Given the description of an element on the screen output the (x, y) to click on. 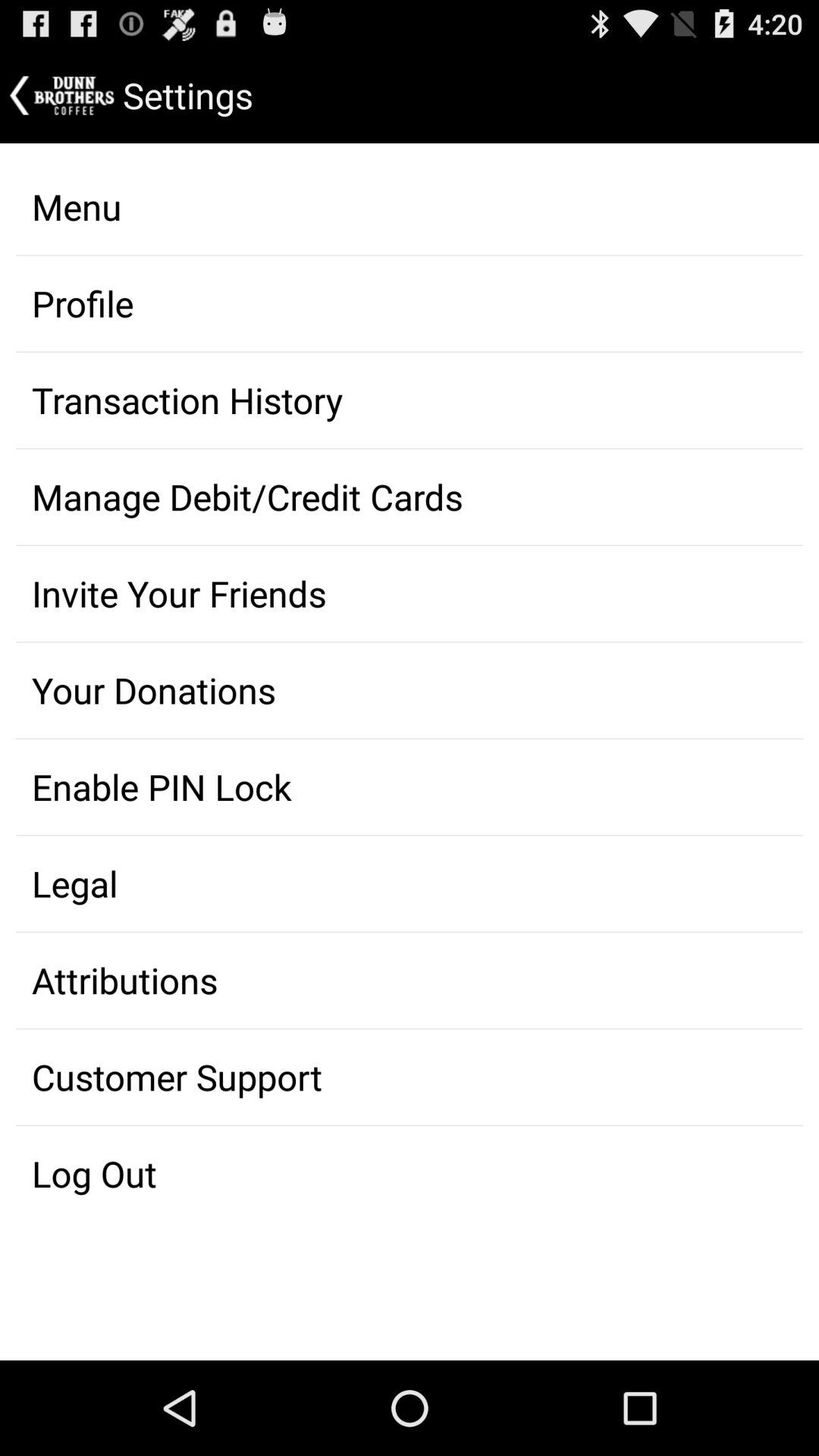
select the third option from the top of the list (409, 400)
select manage debitcredit cards on the page (409, 496)
click on your donations (409, 690)
click on attributions text option (409, 980)
select the option invite your friends (409, 594)
